Given the description of an element on the screen output the (x, y) to click on. 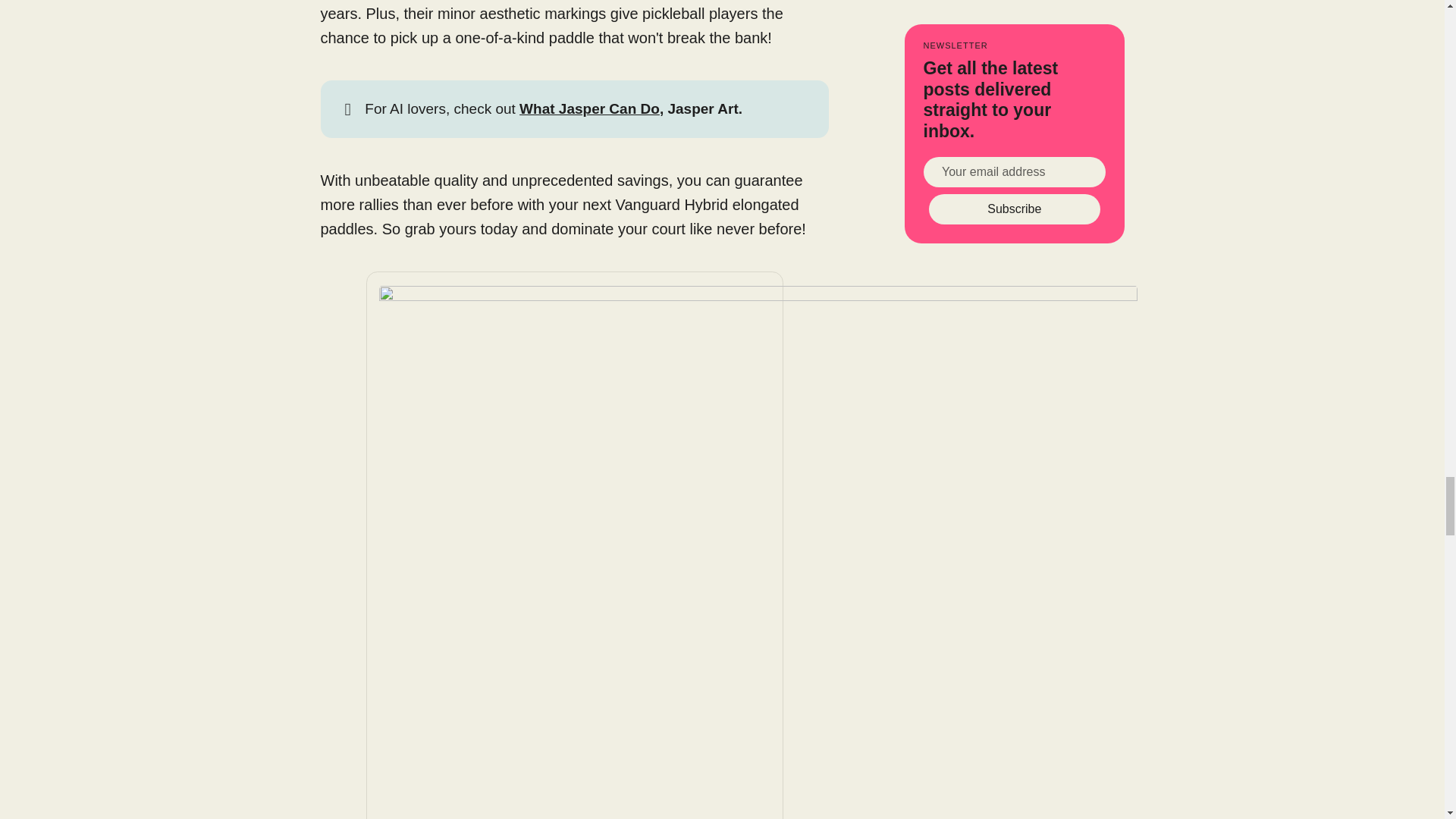
What Jasper Can Do (589, 108)
